Given the description of an element on the screen output the (x, y) to click on. 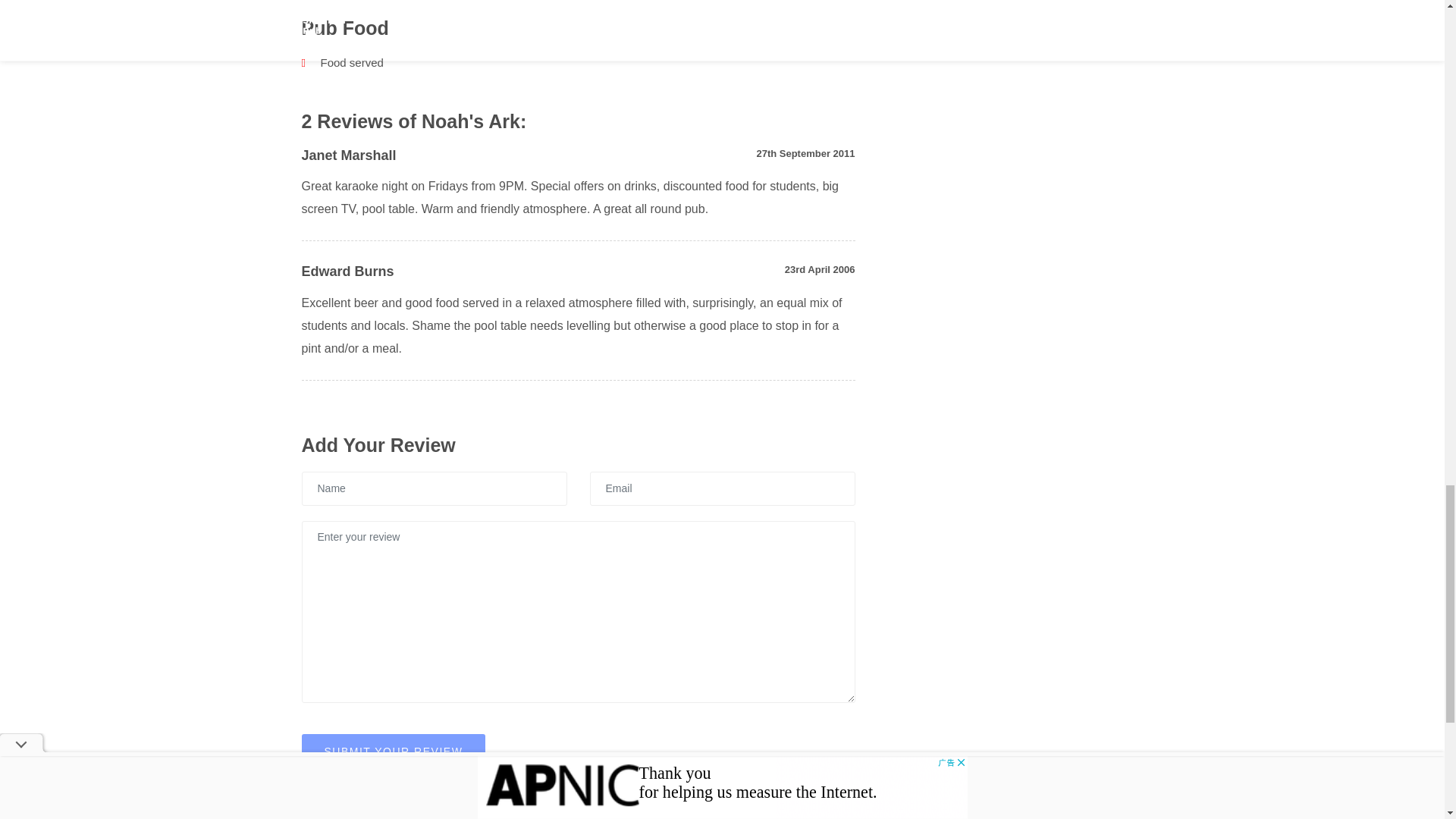
SUBMIT YOUR REVIEW (393, 750)
